Given the description of an element on the screen output the (x, y) to click on. 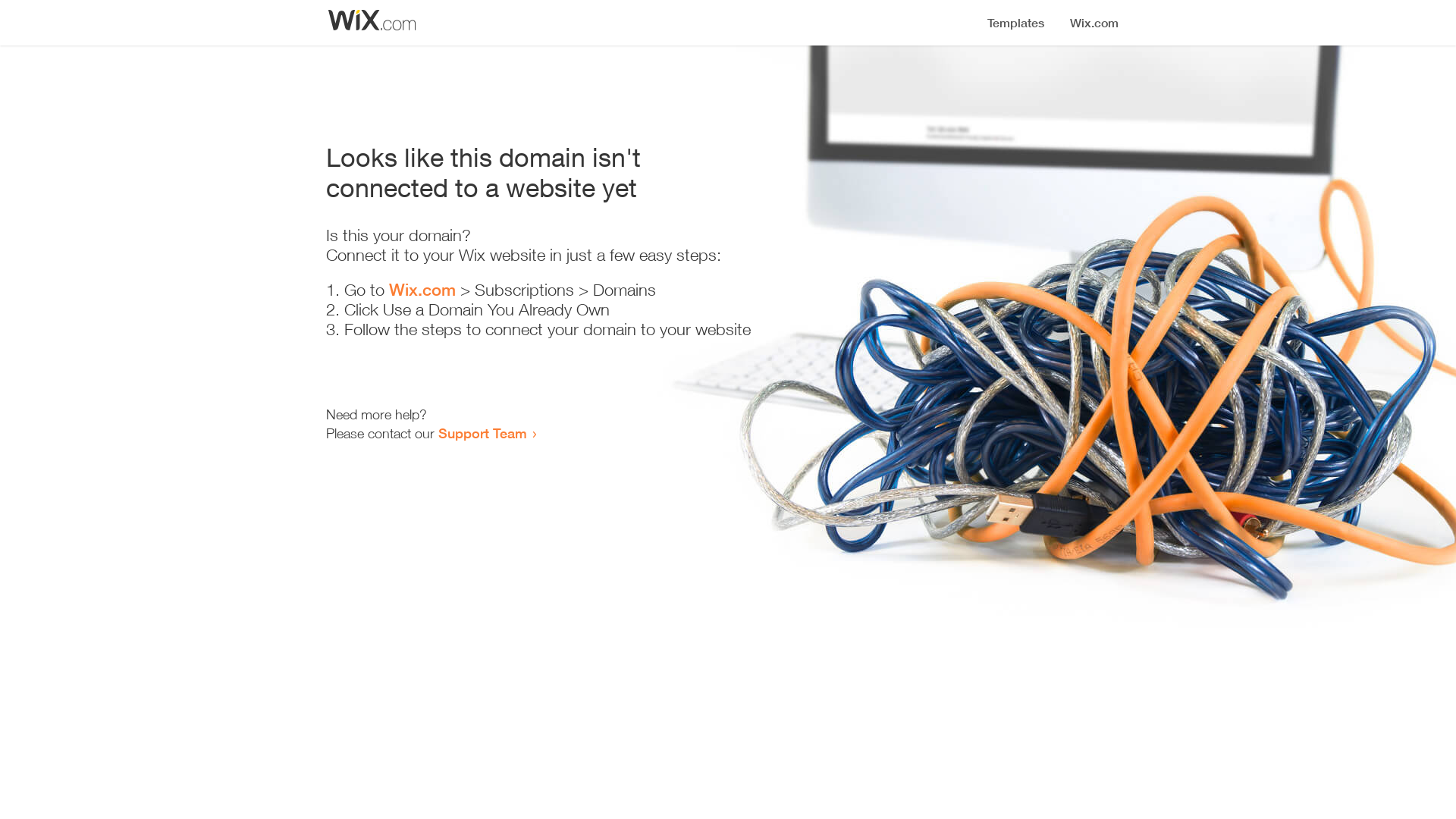
Support Team Element type: text (482, 432)
Wix.com Element type: text (422, 289)
